Given the description of an element on the screen output the (x, y) to click on. 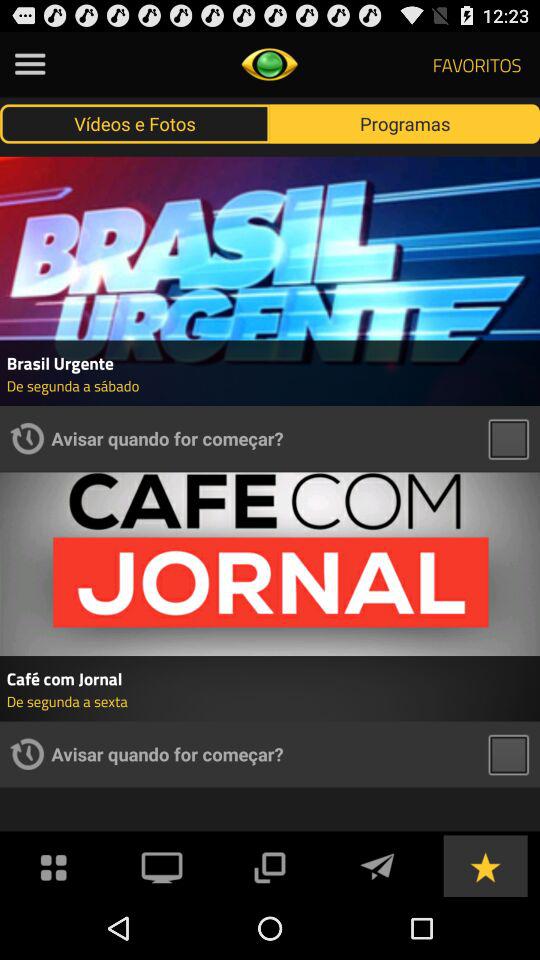
select the icon on the left (27, 438)
